Given the description of an element on the screen output the (x, y) to click on. 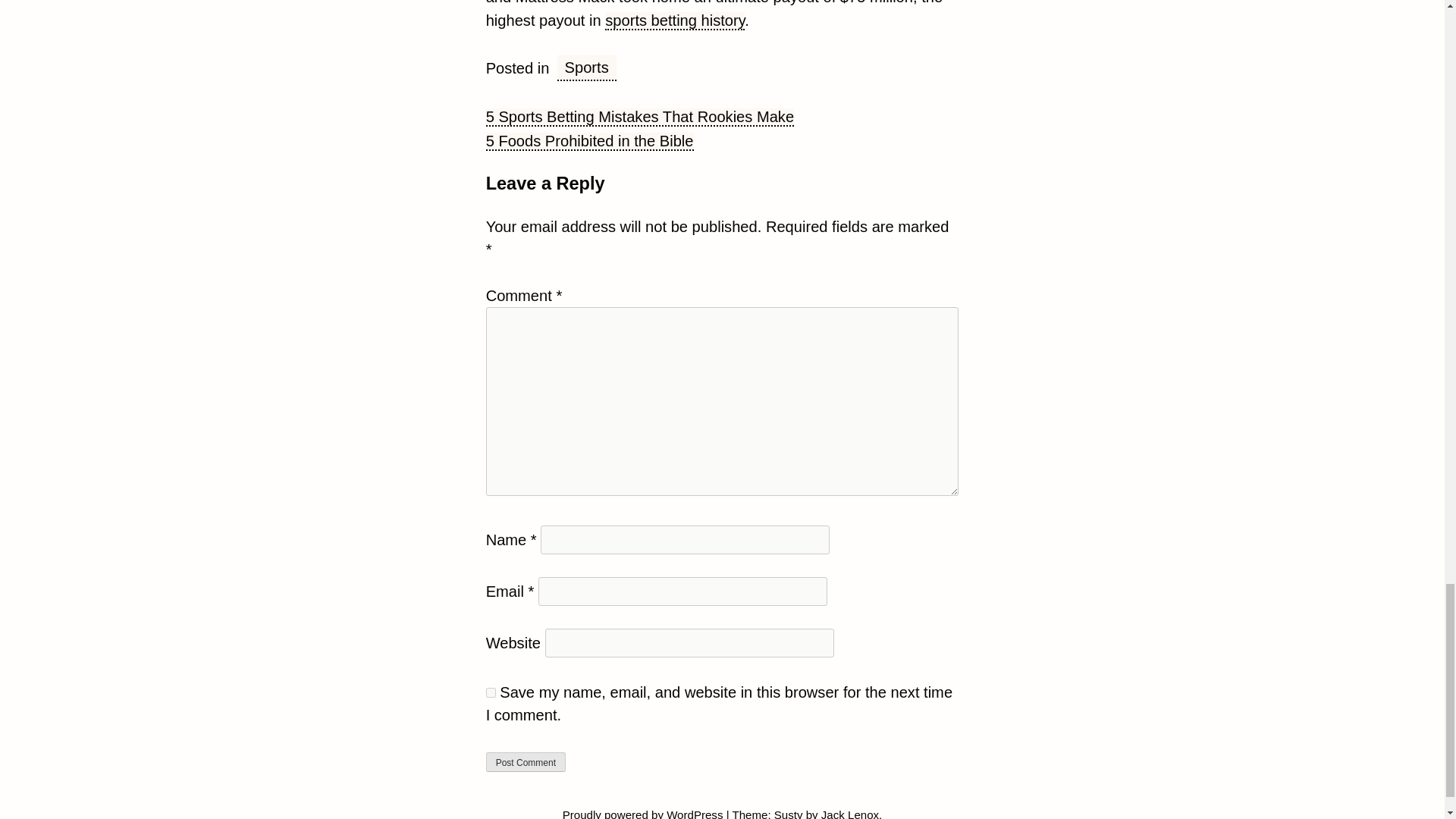
Post Comment (526, 762)
Post Comment (526, 762)
5 Foods Prohibited in the Bible (590, 141)
Sports (586, 68)
sports betting history (674, 21)
5 Sports Betting Mistakes That Rookies Make (639, 117)
yes (491, 692)
